Given the description of an element on the screen output the (x, y) to click on. 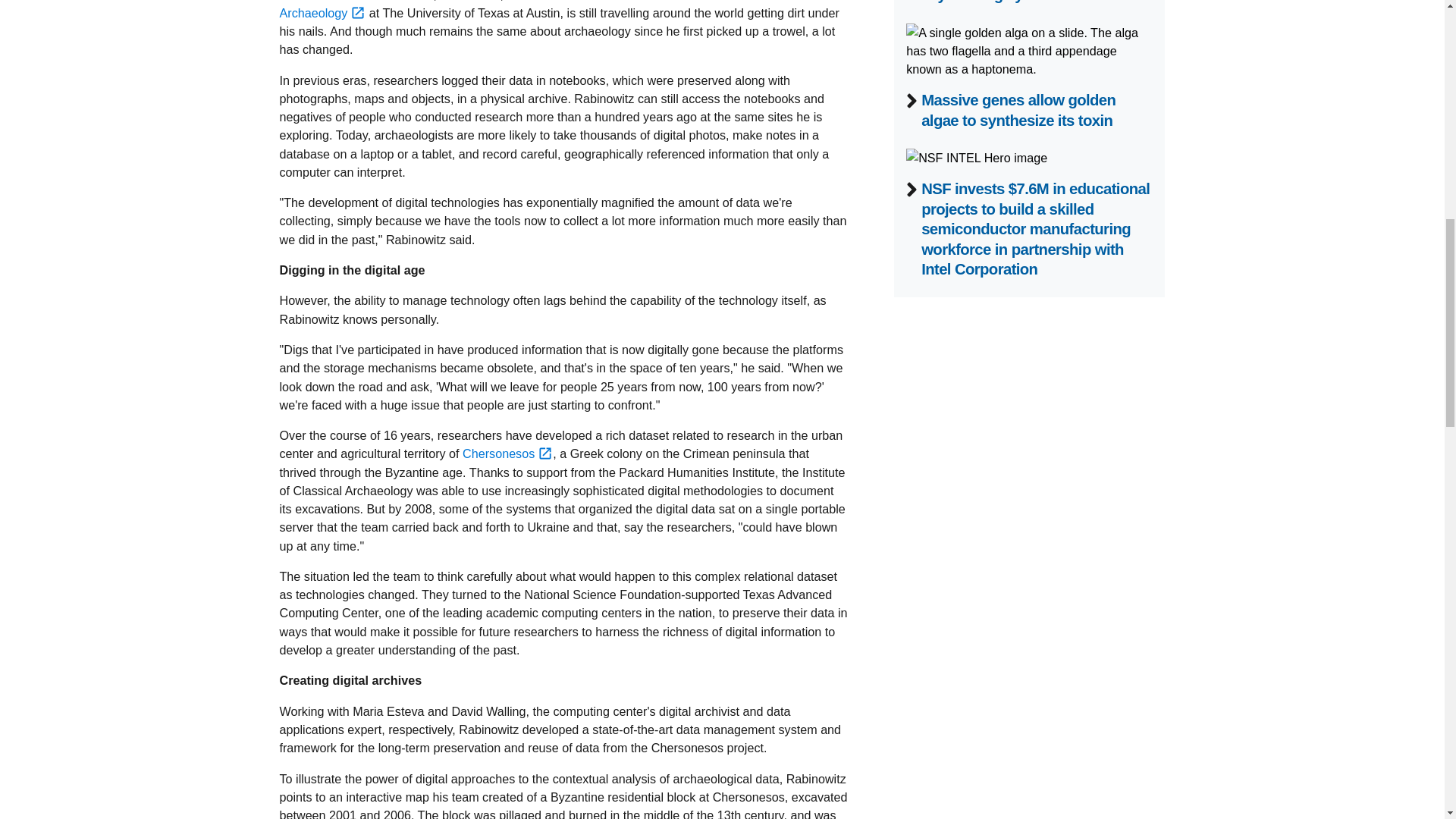
Chersonesos (508, 453)
Institute of Classical Archaeology (535, 9)
Massive genes allow golden algae to synthesize its toxin (1018, 109)
